Given the description of an element on the screen output the (x, y) to click on. 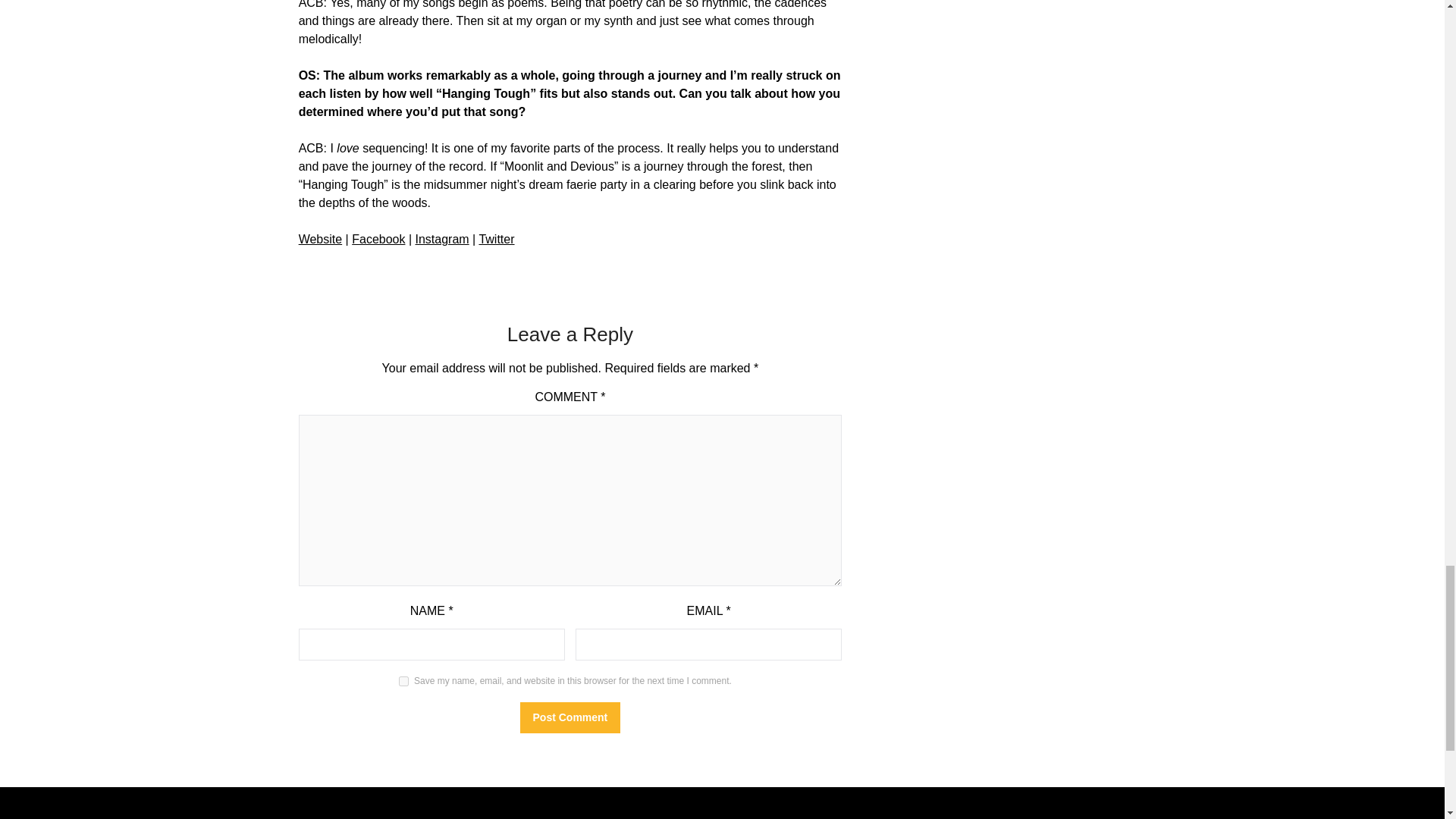
yes (403, 681)
Twitter (496, 238)
Instagram (441, 238)
Facebook (378, 238)
Post Comment (570, 717)
Post Comment (570, 717)
Website (320, 238)
